Given the description of an element on the screen output the (x, y) to click on. 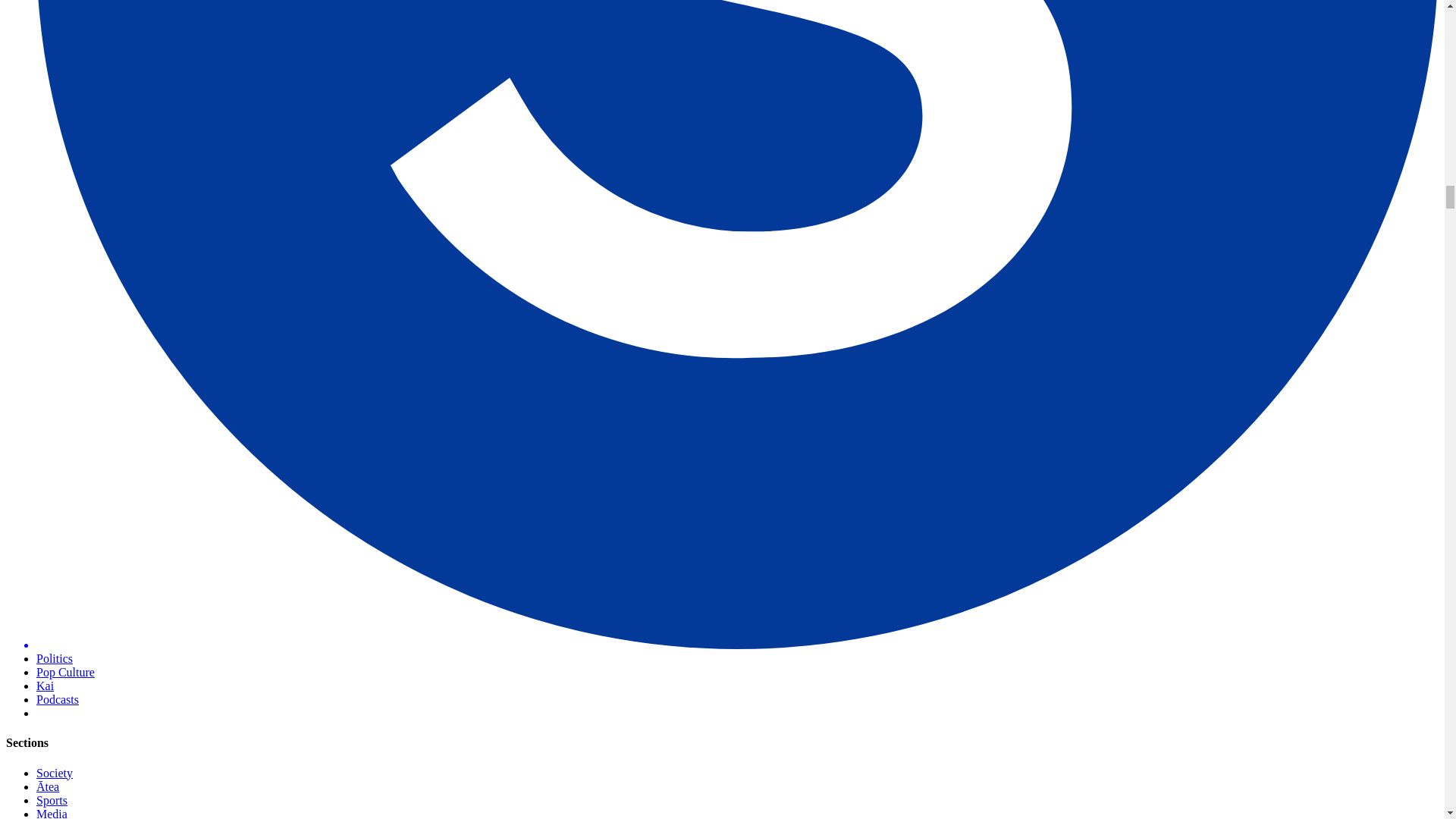
Kai (44, 685)
Politics (54, 658)
Pop Culture (65, 671)
Sports (51, 799)
Society (54, 772)
Media (51, 813)
Podcasts (57, 698)
